Given the description of an element on the screen output the (x, y) to click on. 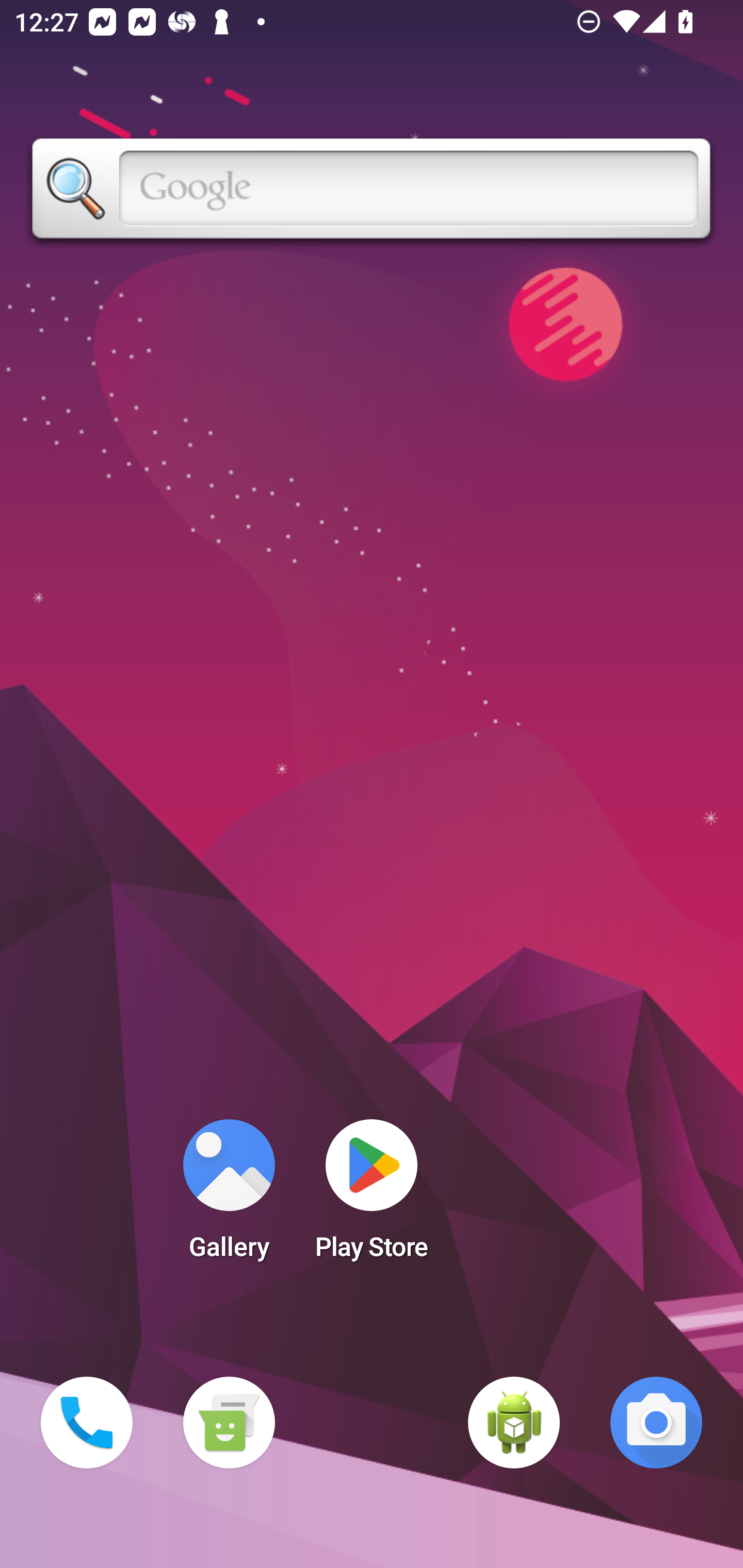
Gallery (228, 1195)
Play Store (371, 1195)
Phone (86, 1422)
Messaging (228, 1422)
WebView Browser Tester (513, 1422)
Camera (656, 1422)
